Given the description of an element on the screen output the (x, y) to click on. 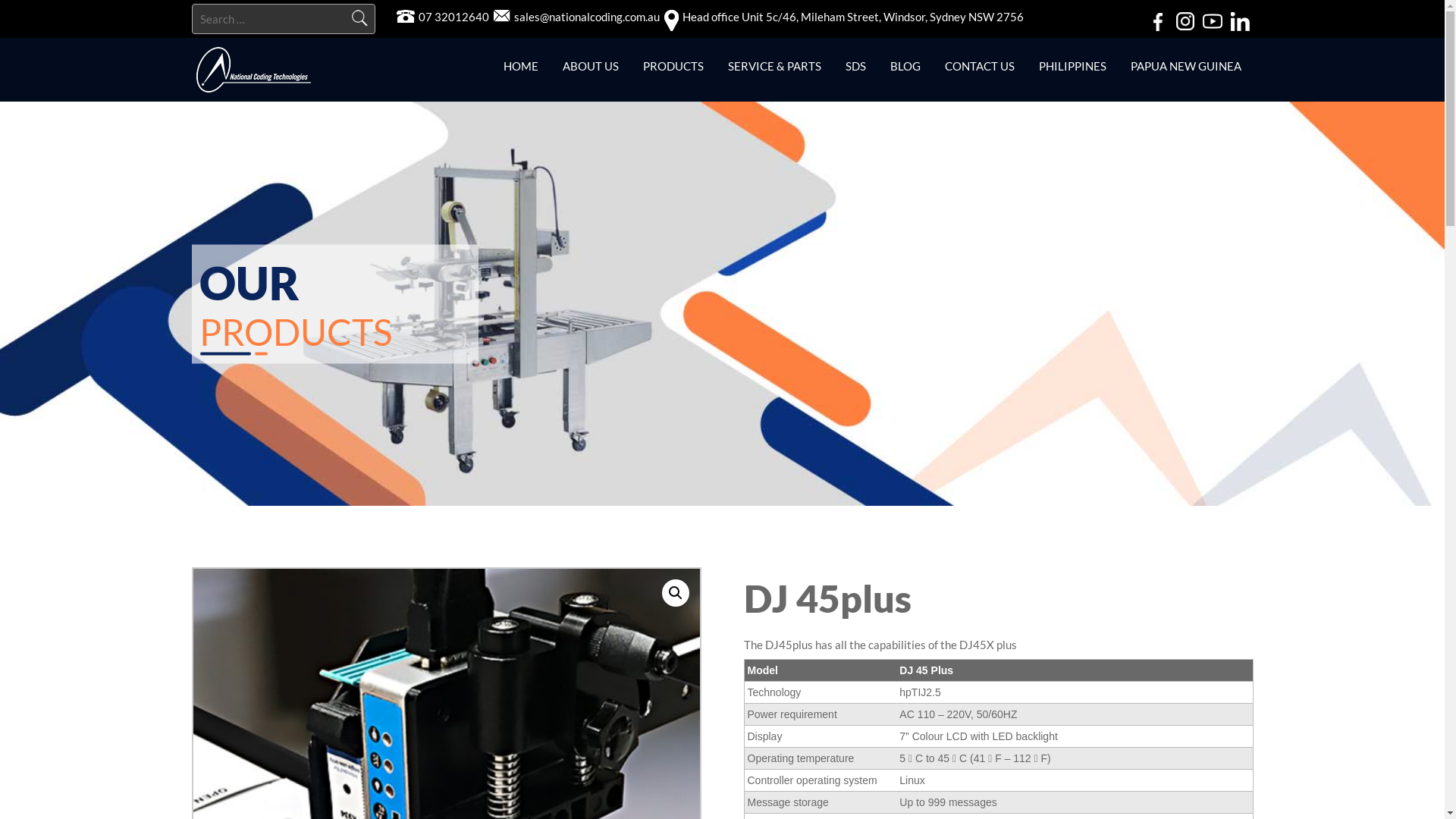
PHILIPPINES Element type: text (1072, 66)
BLOG Element type: text (905, 66)
HOME Element type: text (520, 66)
ABOUT US Element type: text (590, 66)
SDS Element type: text (854, 66)
SERVICE & PARTS Element type: text (774, 66)
PAPUA NEW GUINEA Element type: text (1184, 66)
07 32012640 Element type: text (453, 16)
sales@nationalcoding.com.au Element type: text (586, 16)
PRODUCTS Element type: text (672, 66)
Search for: Element type: hover (282, 18)
CONTACT US Element type: text (979, 66)
